Given the description of an element on the screen output the (x, y) to click on. 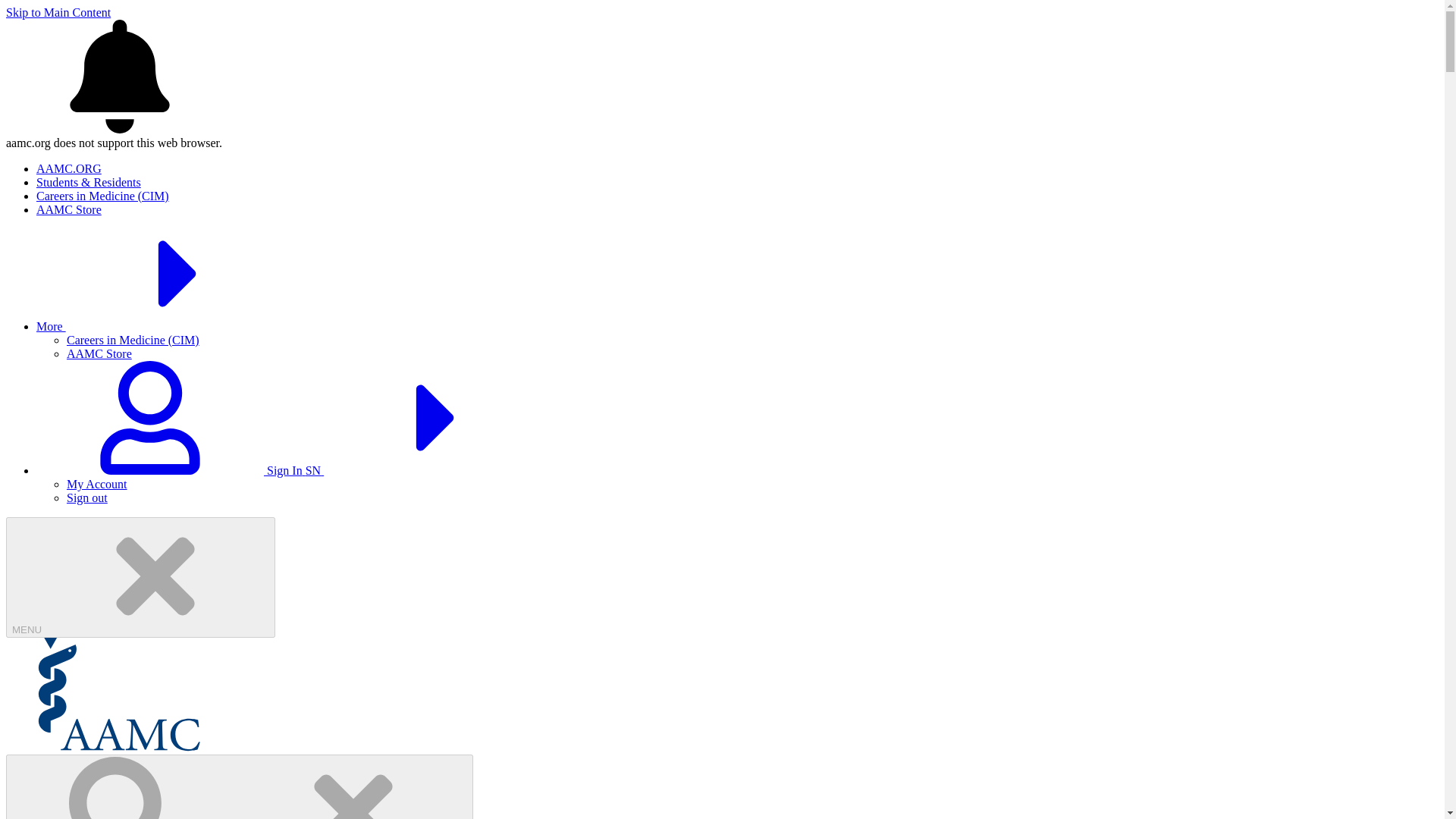
AAMC Store (99, 353)
Skip to Main Content (57, 11)
AAMC Store (68, 209)
Sign In SN (293, 470)
More (165, 326)
Sign out (86, 497)
MENU (140, 577)
AAMC (118, 747)
My Account (97, 483)
AAMC.ORG (68, 168)
